Given the description of an element on the screen output the (x, y) to click on. 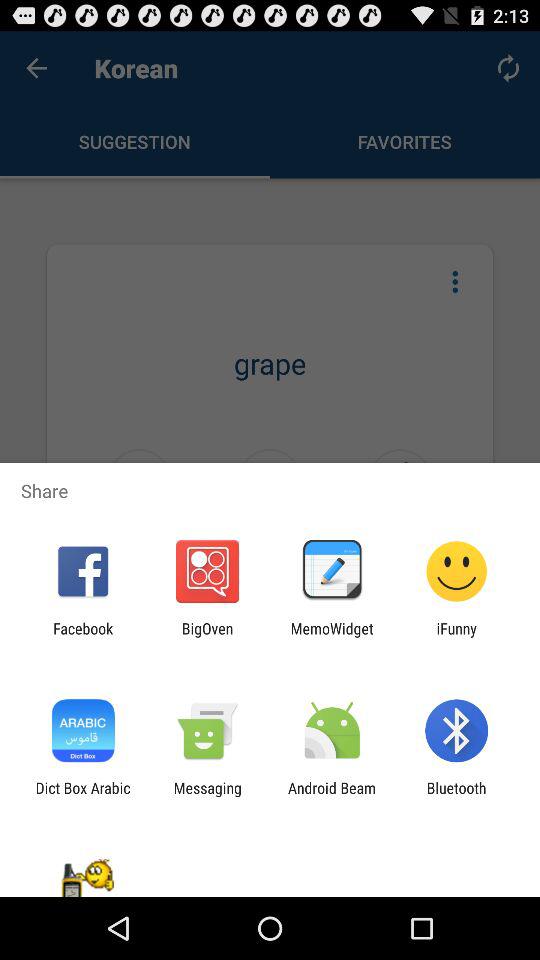
press the icon next to the facebook (207, 637)
